Given the description of an element on the screen output the (x, y) to click on. 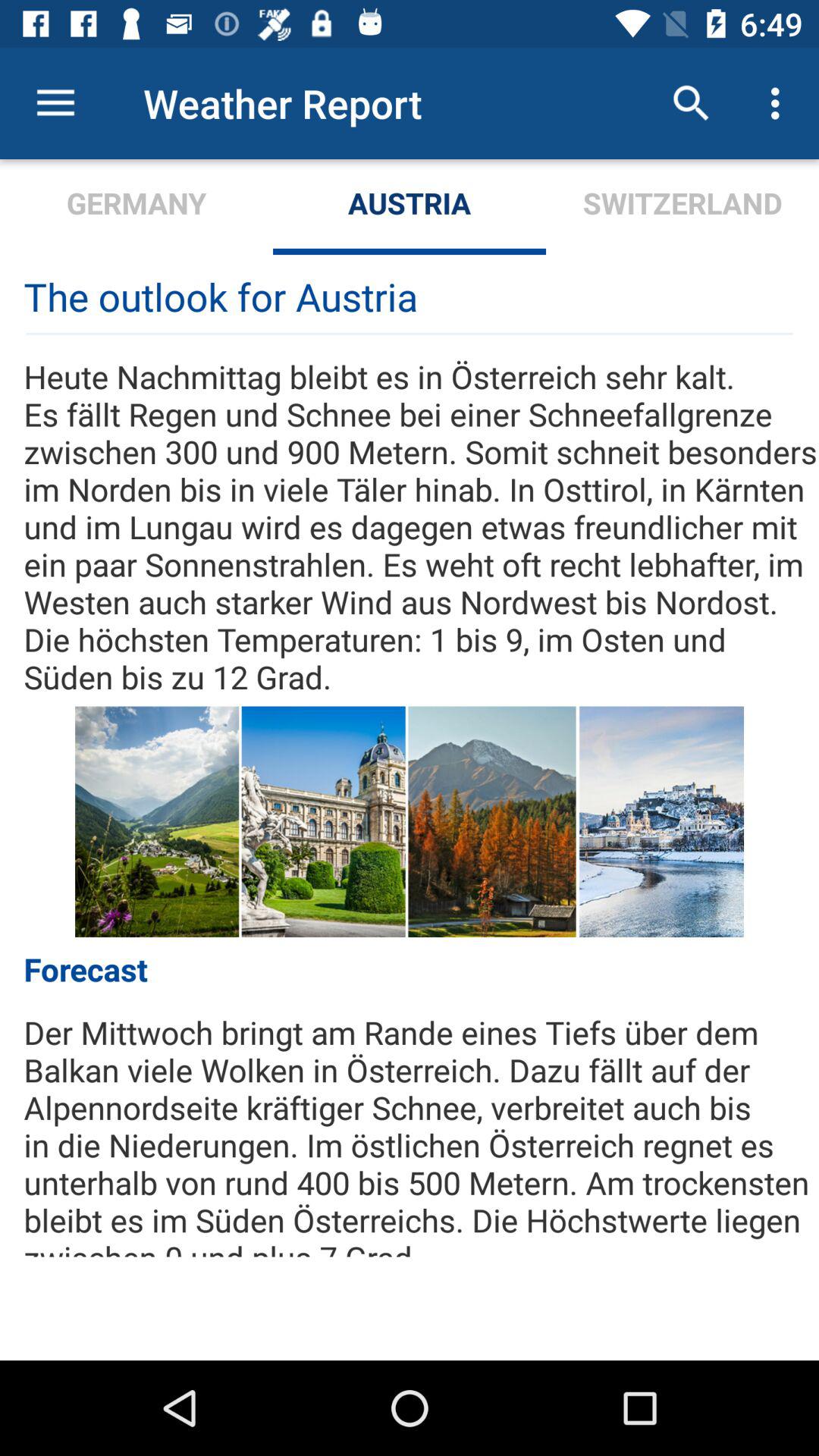
swipe until the switzerland icon (682, 206)
